Given the description of an element on the screen output the (x, y) to click on. 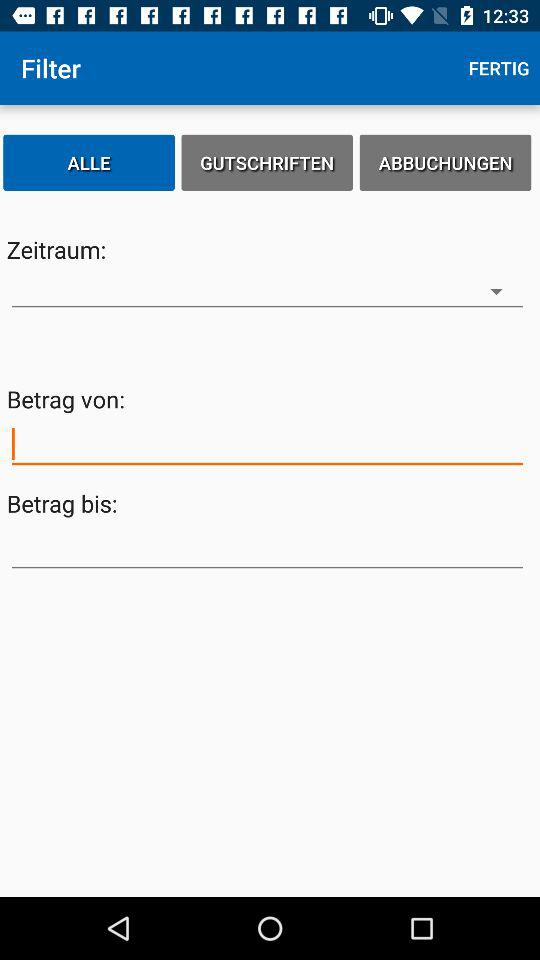
tap the gutschriften (267, 162)
